Given the description of an element on the screen output the (x, y) to click on. 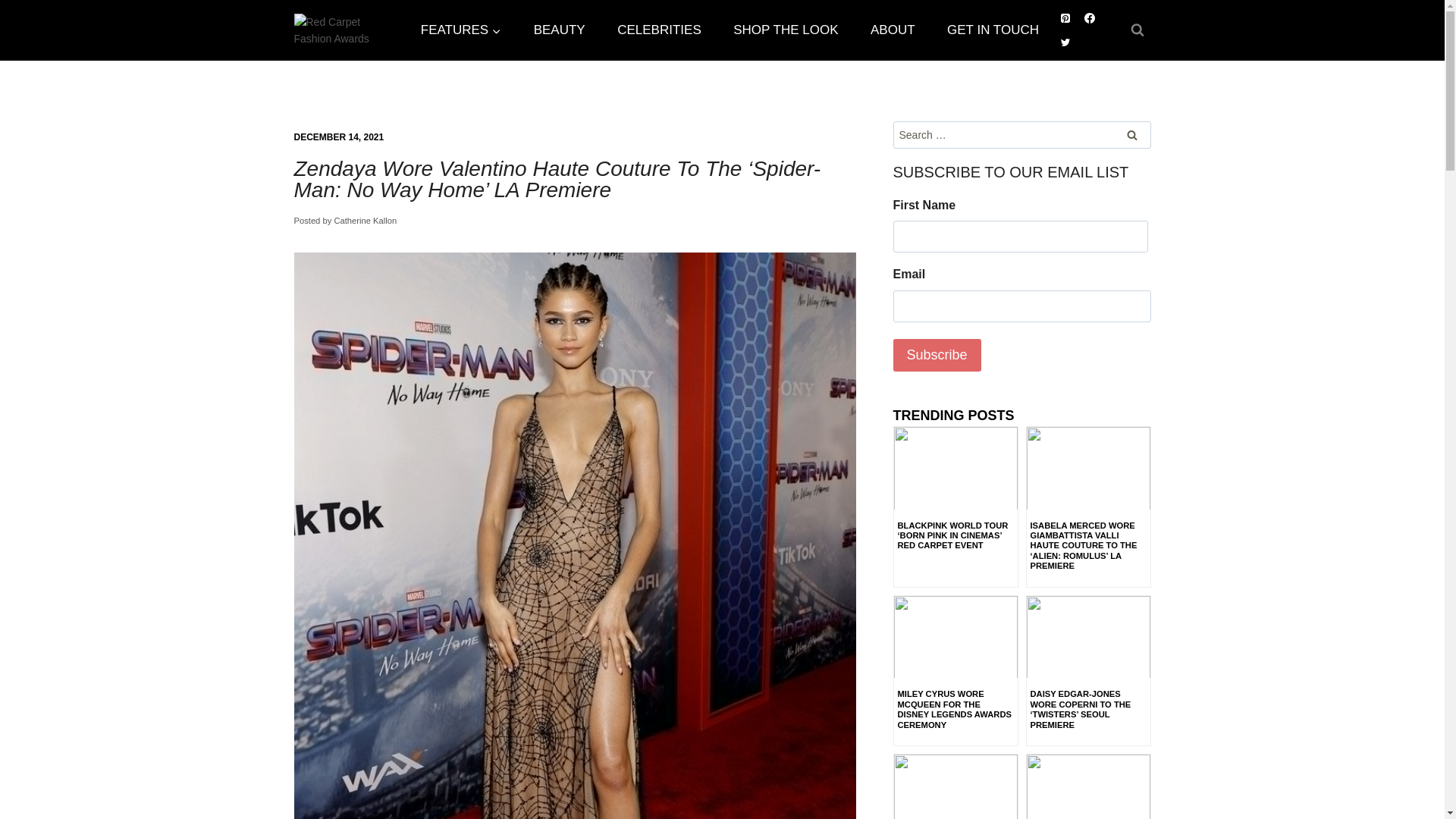
SHOP THE LOOK (785, 30)
Catherine Kallon (364, 220)
ABOUT (892, 30)
Subscribe (937, 355)
GET IN TOUCH (992, 30)
BEAUTY (558, 30)
Search (1132, 134)
Search (1132, 134)
FEATURES (461, 30)
CELEBRITIES (659, 30)
